Given the description of an element on the screen output the (x, y) to click on. 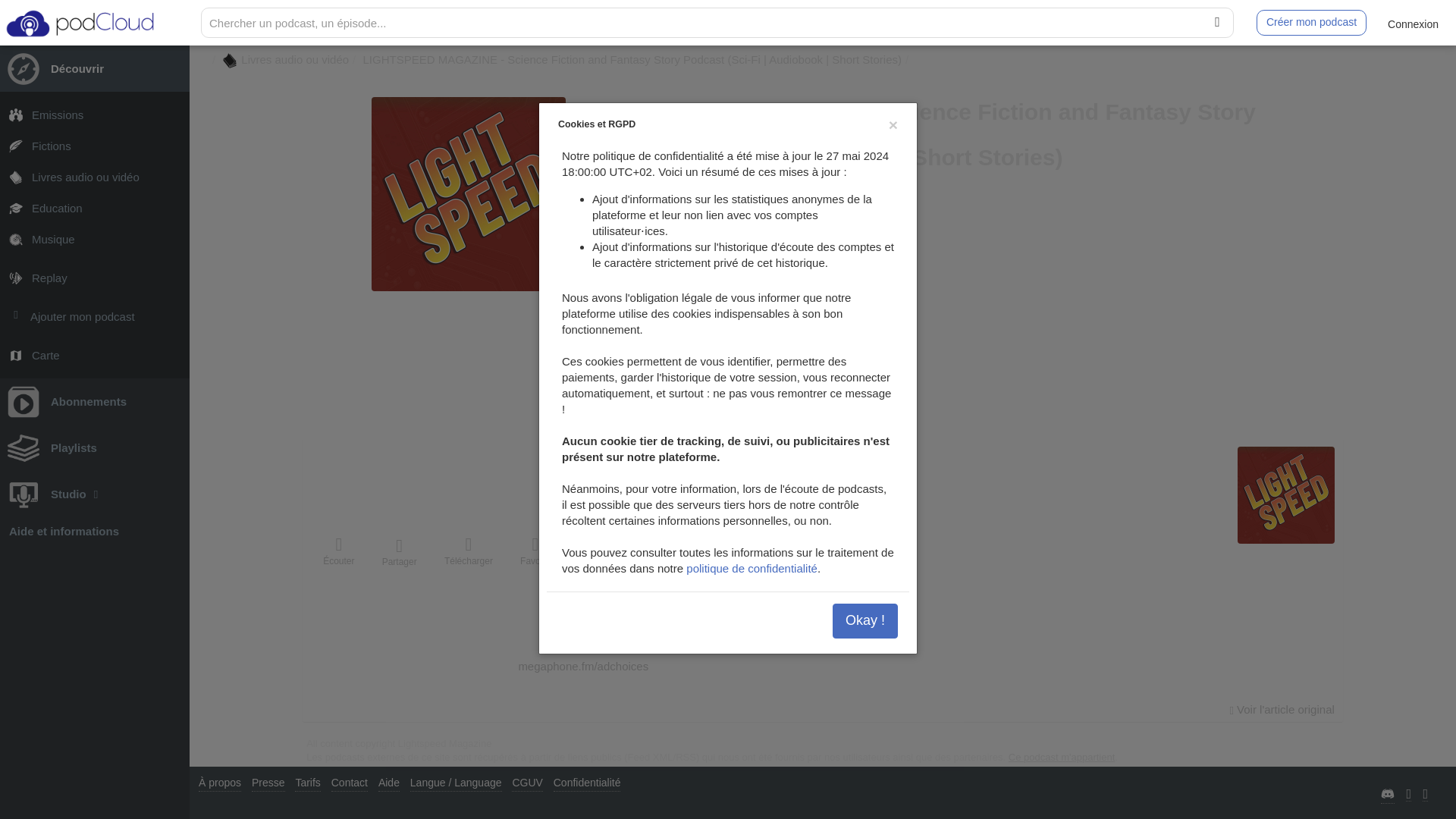
Contact (811, 242)
Bertrand (716, 280)
Studio (94, 493)
Fictions (94, 145)
Flux RSS (838, 242)
Musique (94, 238)
Replay (94, 277)
Site Web (783, 242)
Education (94, 207)
Ajouter mon podcast (94, 316)
Emissions (94, 114)
Playlists (94, 447)
Abonnements (94, 401)
iTunes (865, 242)
Connexion (1412, 22)
